Given the description of an element on the screen output the (x, y) to click on. 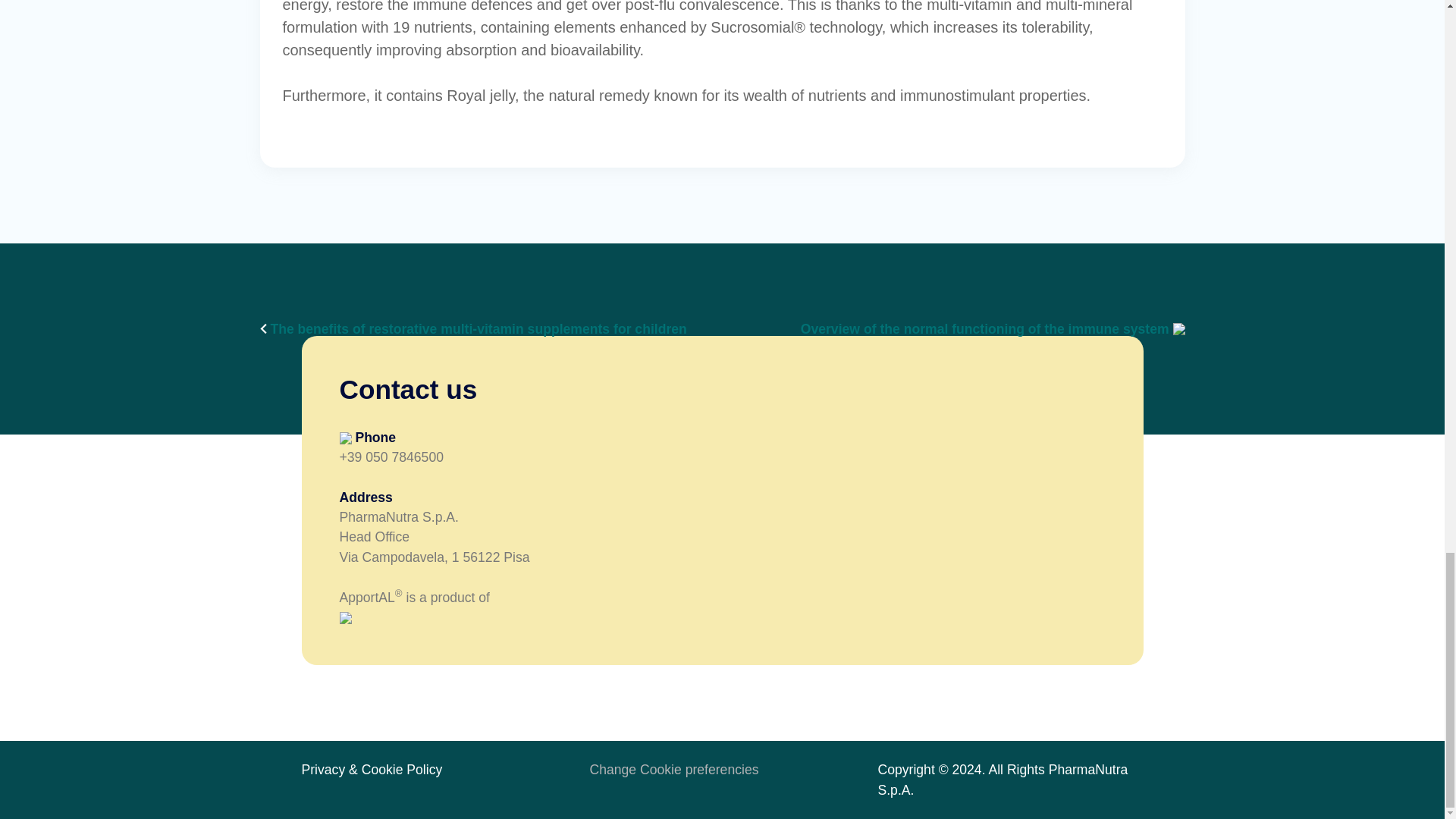
Change Cookie preferencies (673, 769)
